Given the description of an element on the screen output the (x, y) to click on. 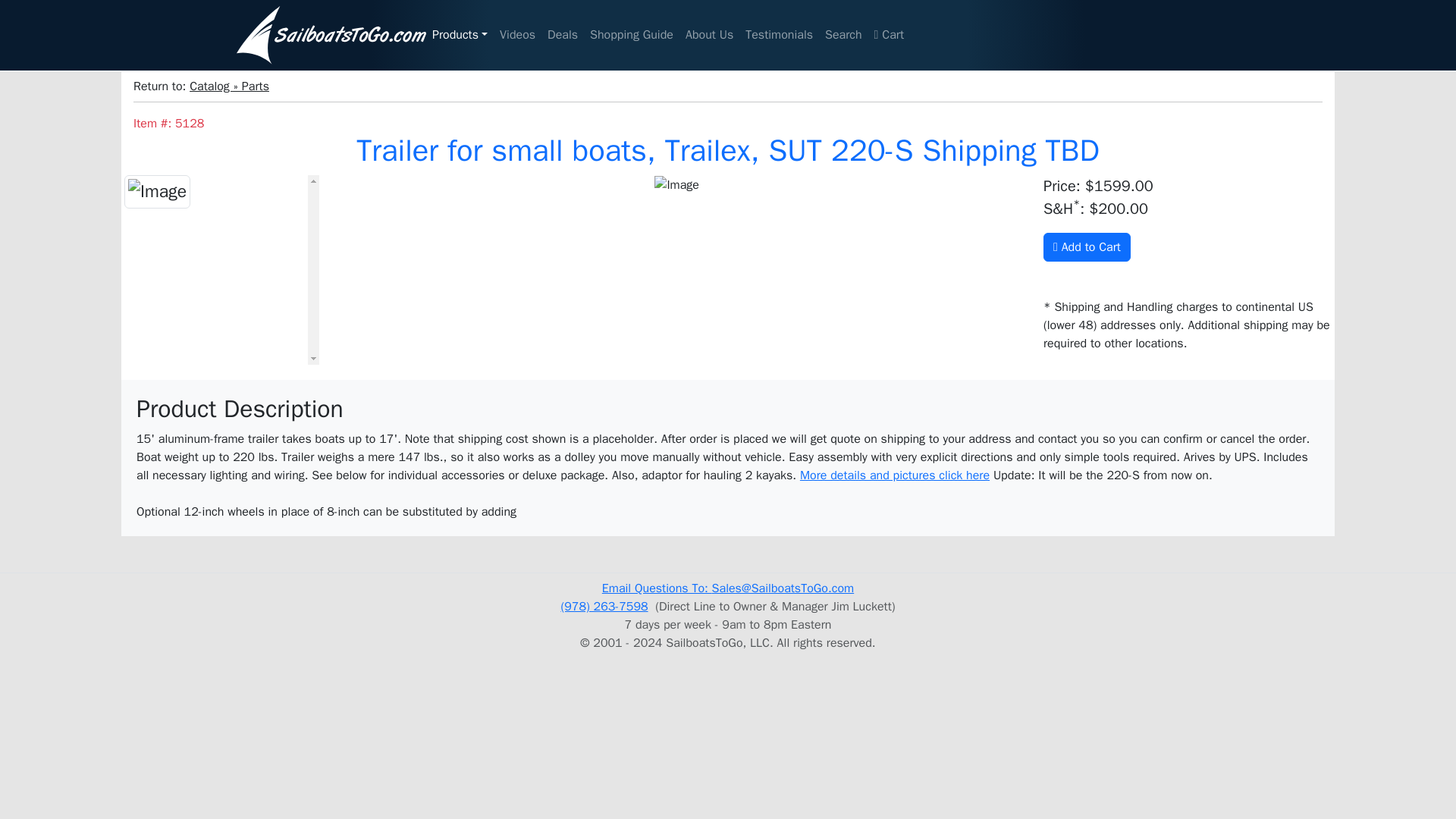
More details and pictures click here (894, 475)
Shopping Guide (631, 34)
Cart (888, 34)
Search (842, 34)
Add to Cart (1087, 246)
About Us (709, 34)
Email Questions To: (656, 588)
Testimonials (778, 34)
Videos (517, 34)
Deals (562, 34)
Products (459, 34)
